Given the description of an element on the screen output the (x, y) to click on. 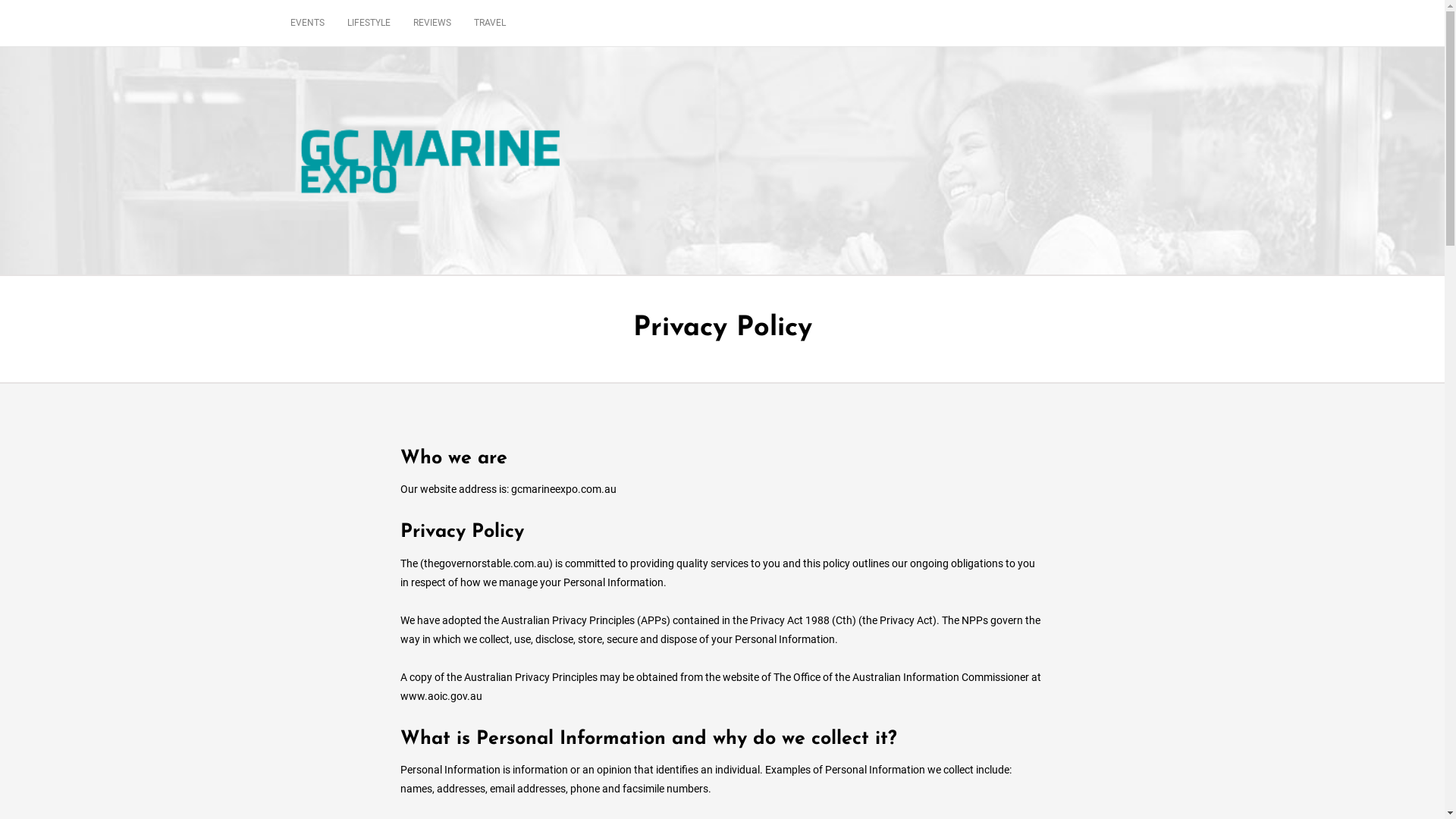
EVENTS Element type: text (312, 23)
LIFESTYLE Element type: text (368, 23)
TRAVEL Element type: text (489, 23)
REVIEWS Element type: text (431, 23)
